Given the description of an element on the screen output the (x, y) to click on. 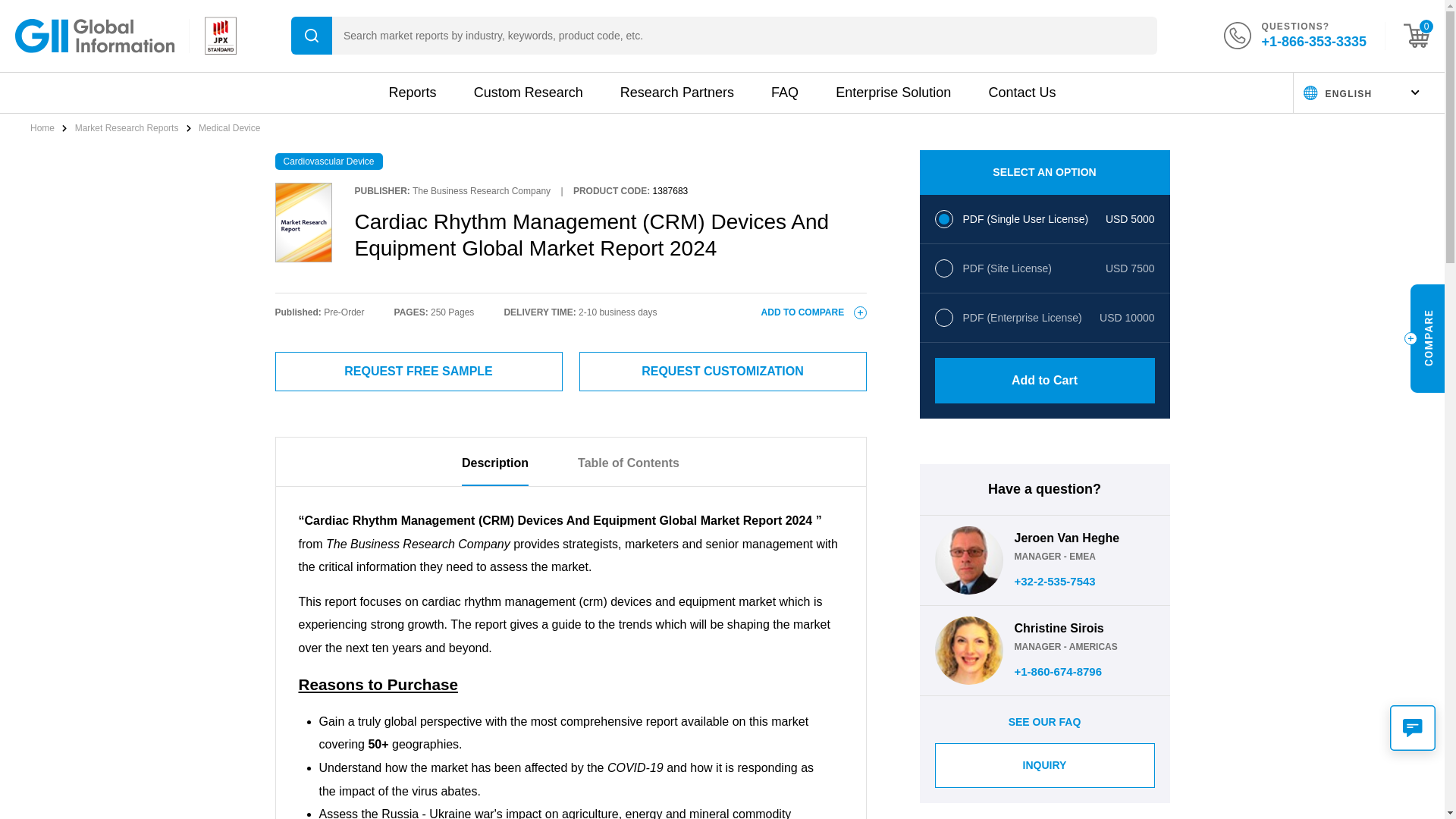
REQUEST FREE SAMPLE (418, 371)
0 (1416, 35)
Research Partners (676, 92)
Market Research Reports (127, 127)
Cardiovascular Device (328, 161)
Custom Research (528, 92)
Table of Contents (628, 470)
Reports (411, 92)
Medical Device (229, 127)
REQUEST CUSTOMIZATION (722, 371)
